Given the description of an element on the screen output the (x, y) to click on. 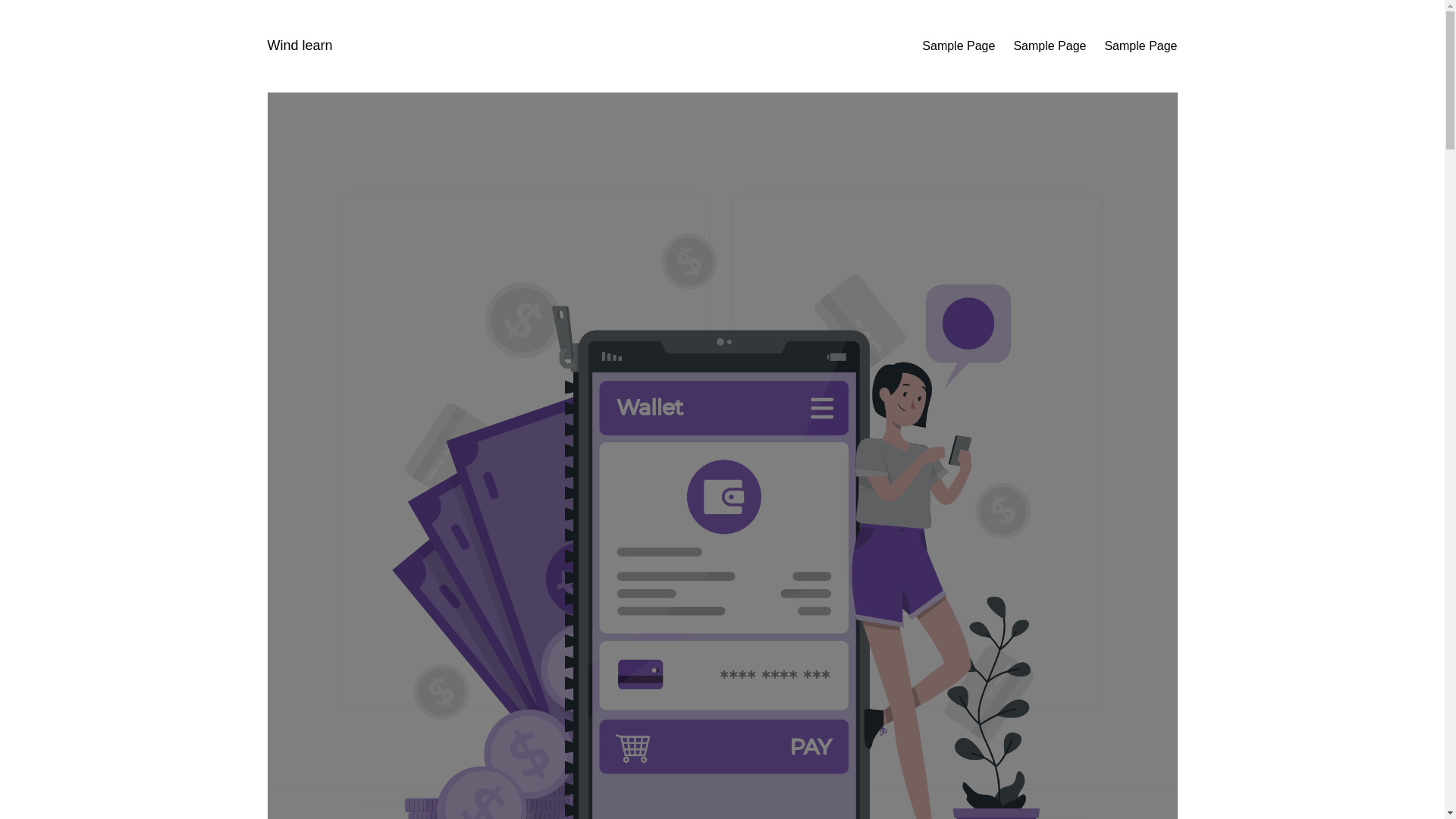
Wind learn (298, 45)
Sample Page (1139, 46)
Sample Page (957, 46)
Sample Page (1049, 46)
